Given the description of an element on the screen output the (x, y) to click on. 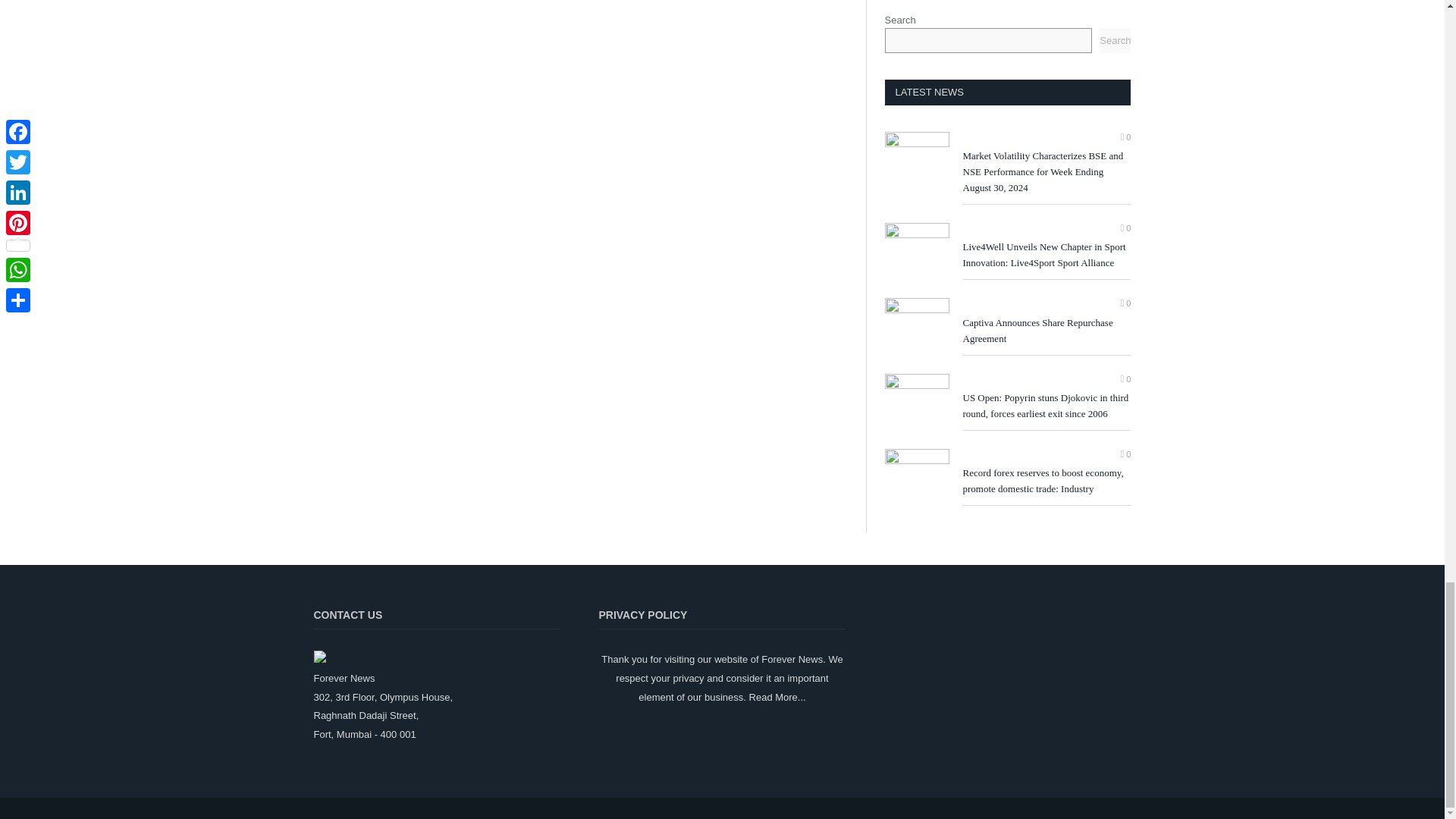
Captiva Announces Share Repurchase Agreement (1046, 331)
0 (1126, 302)
Captiva Announces Share Repurchase Agreement (916, 325)
